Given the description of an element on the screen output the (x, y) to click on. 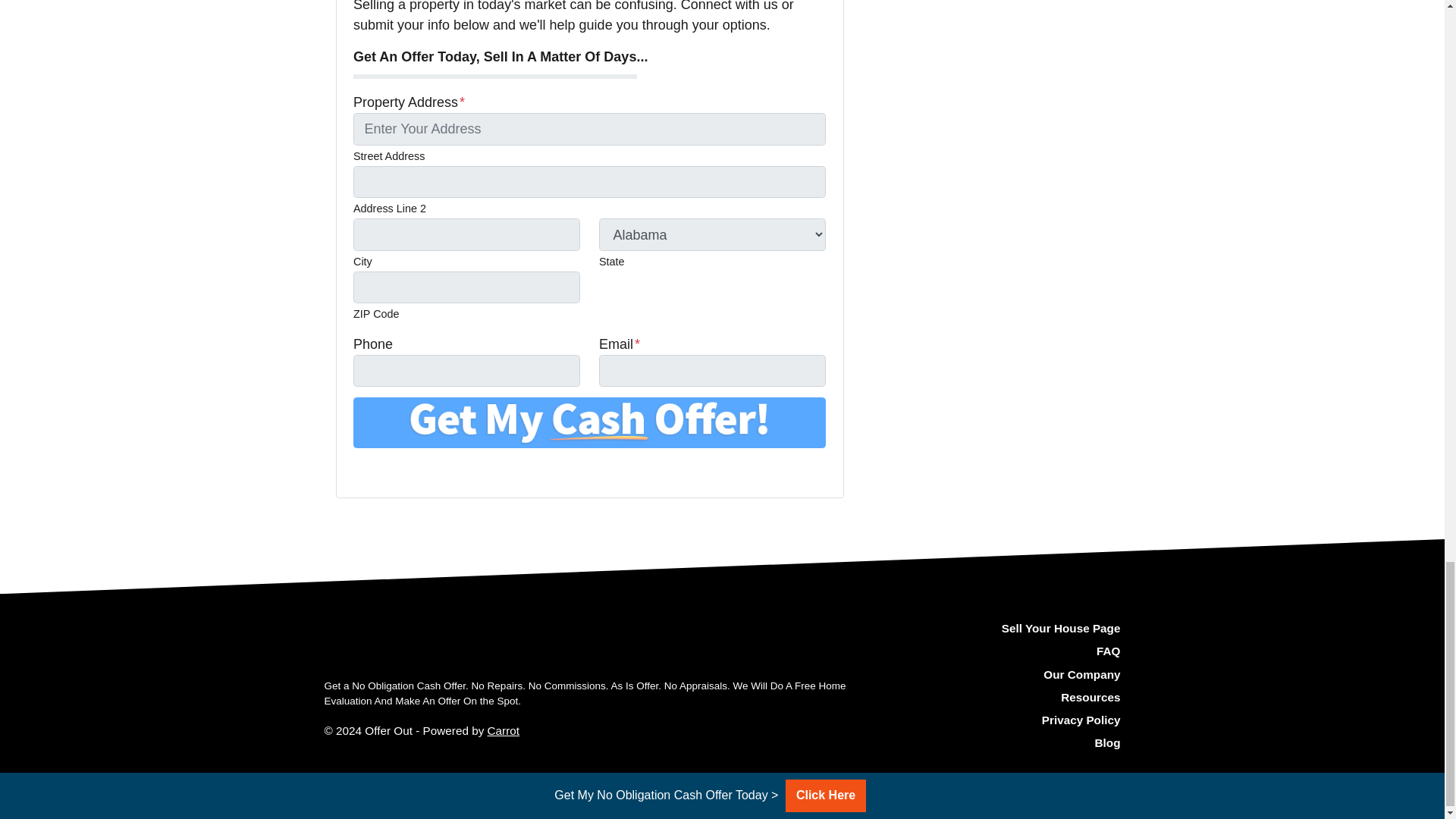
FAQ (995, 651)
Our Company (995, 674)
Resources (995, 697)
LinkedIn (425, 470)
YouTube (404, 470)
Privacy Policy (995, 720)
Instagram (447, 470)
Sell Your House Page (995, 629)
Facebook (383, 470)
Blog (995, 743)
Twitter (362, 470)
Carrot (503, 730)
